Given the description of an element on the screen output the (x, y) to click on. 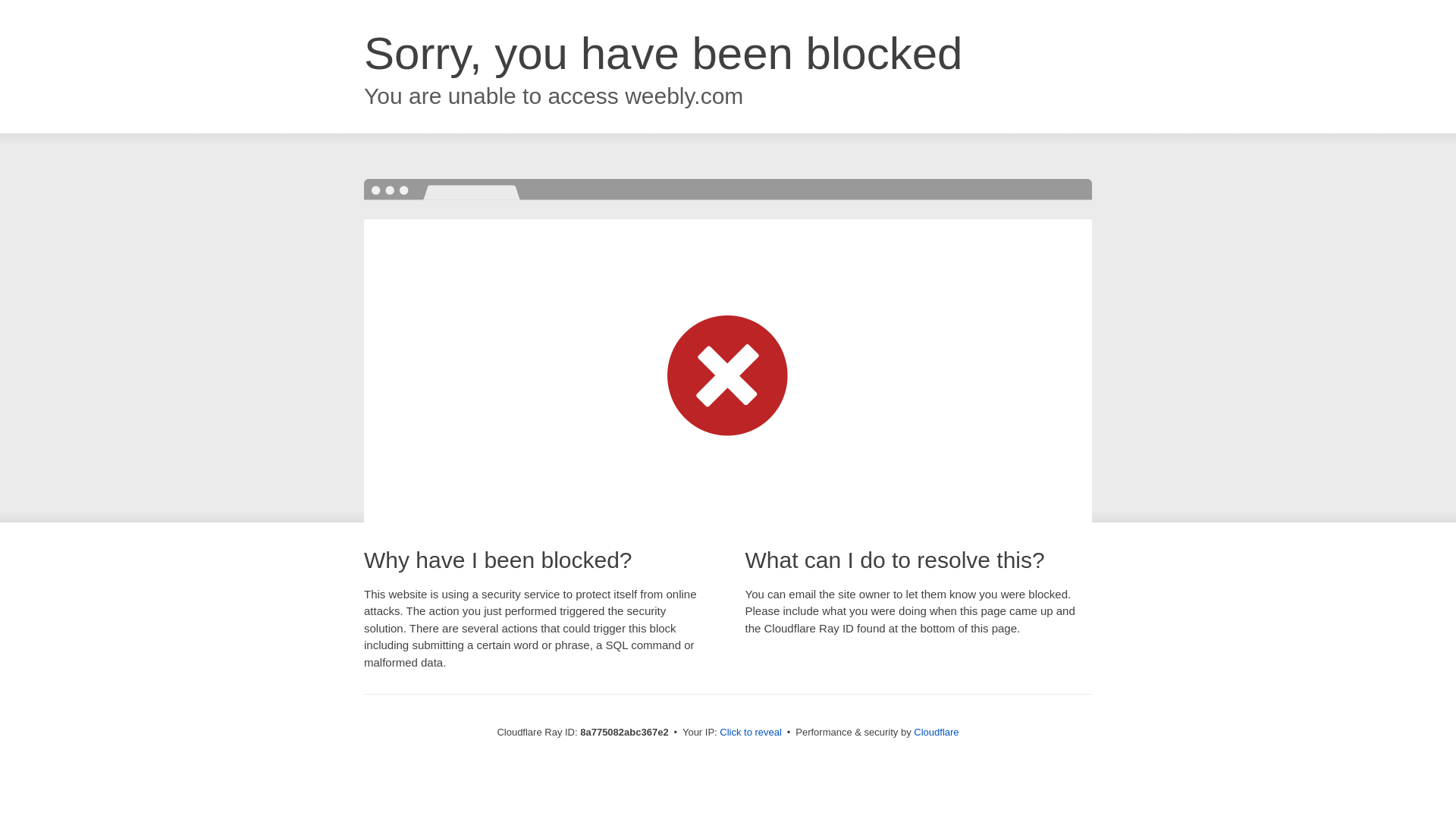
Click to reveal (750, 732)
Cloudflare (936, 731)
